Given the description of an element on the screen output the (x, y) to click on. 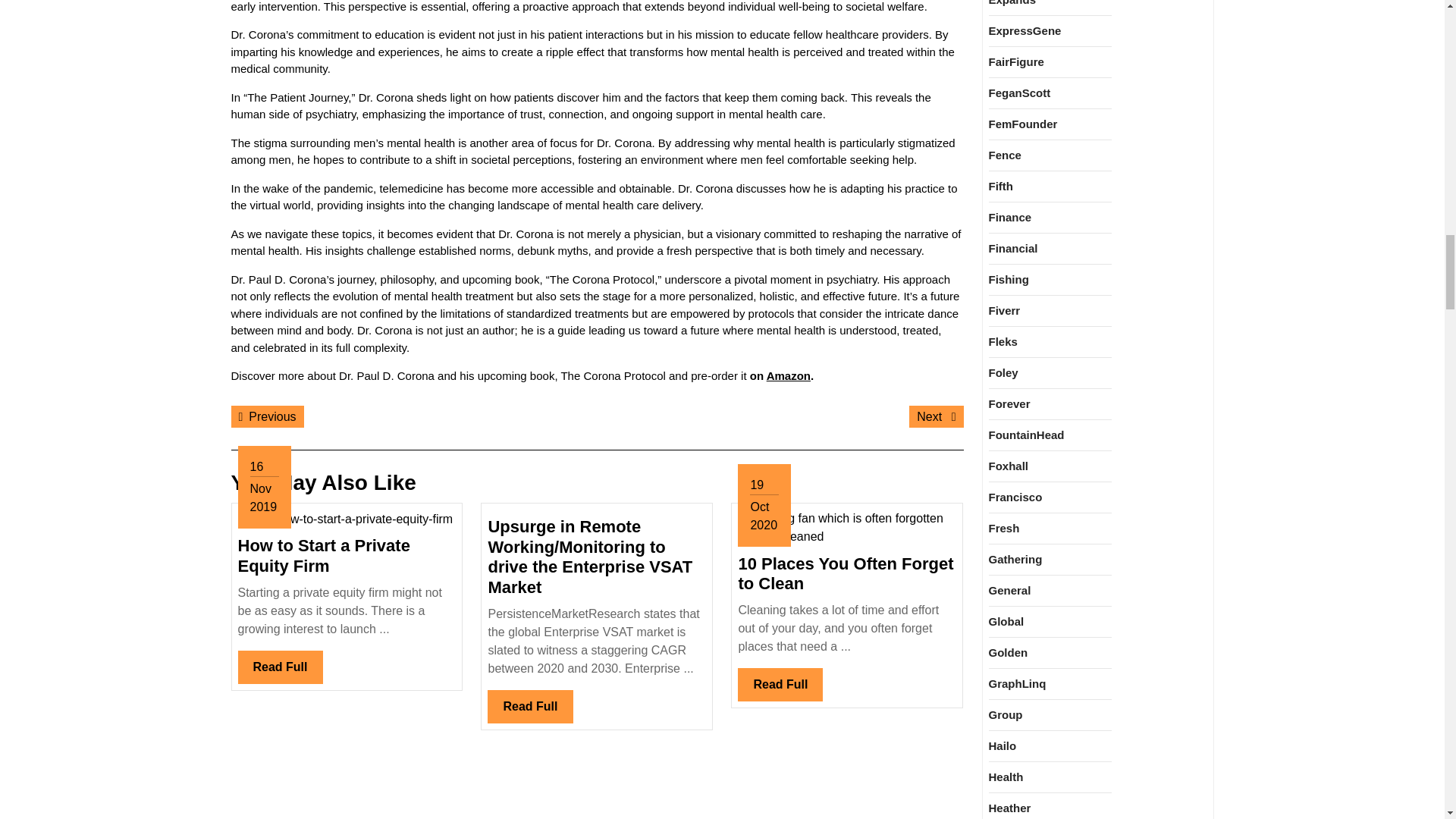
Amazon (529, 706)
